Given the description of an element on the screen output the (x, y) to click on. 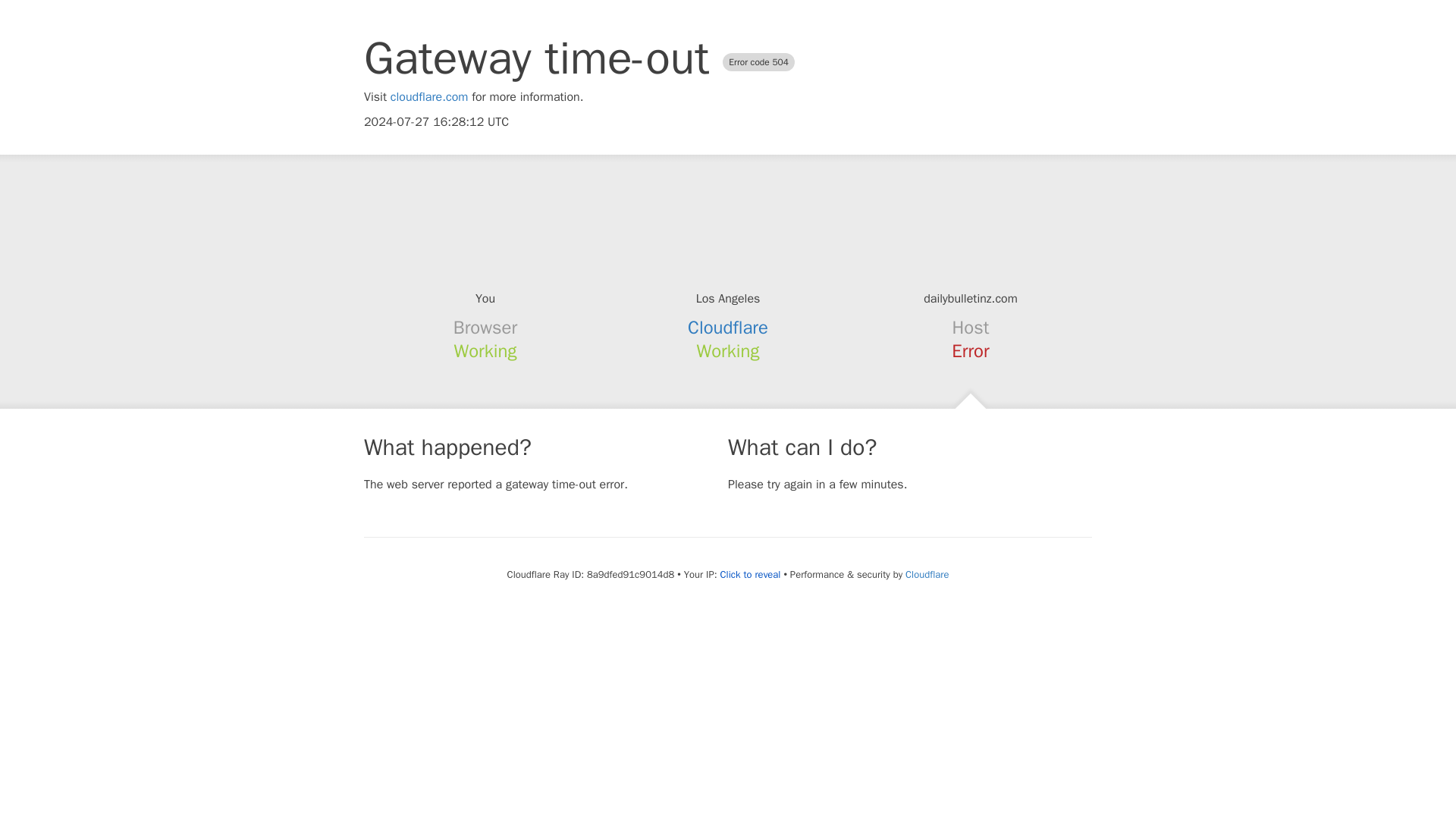
Cloudflare (727, 327)
Click to reveal (750, 574)
cloudflare.com (429, 96)
Cloudflare (927, 574)
